Given the description of an element on the screen output the (x, y) to click on. 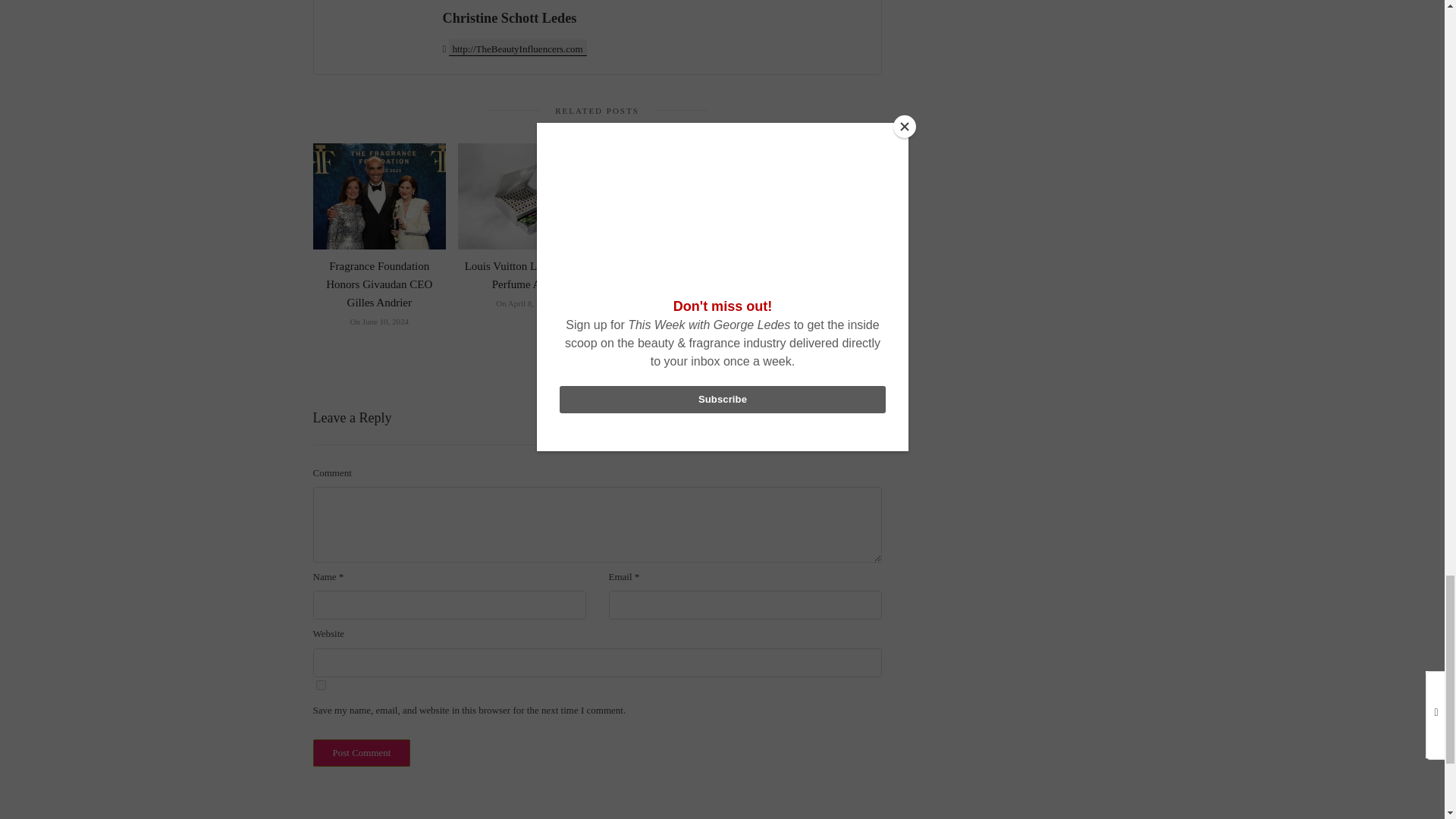
yes (319, 685)
Post Comment (361, 752)
